Given the description of an element on the screen output the (x, y) to click on. 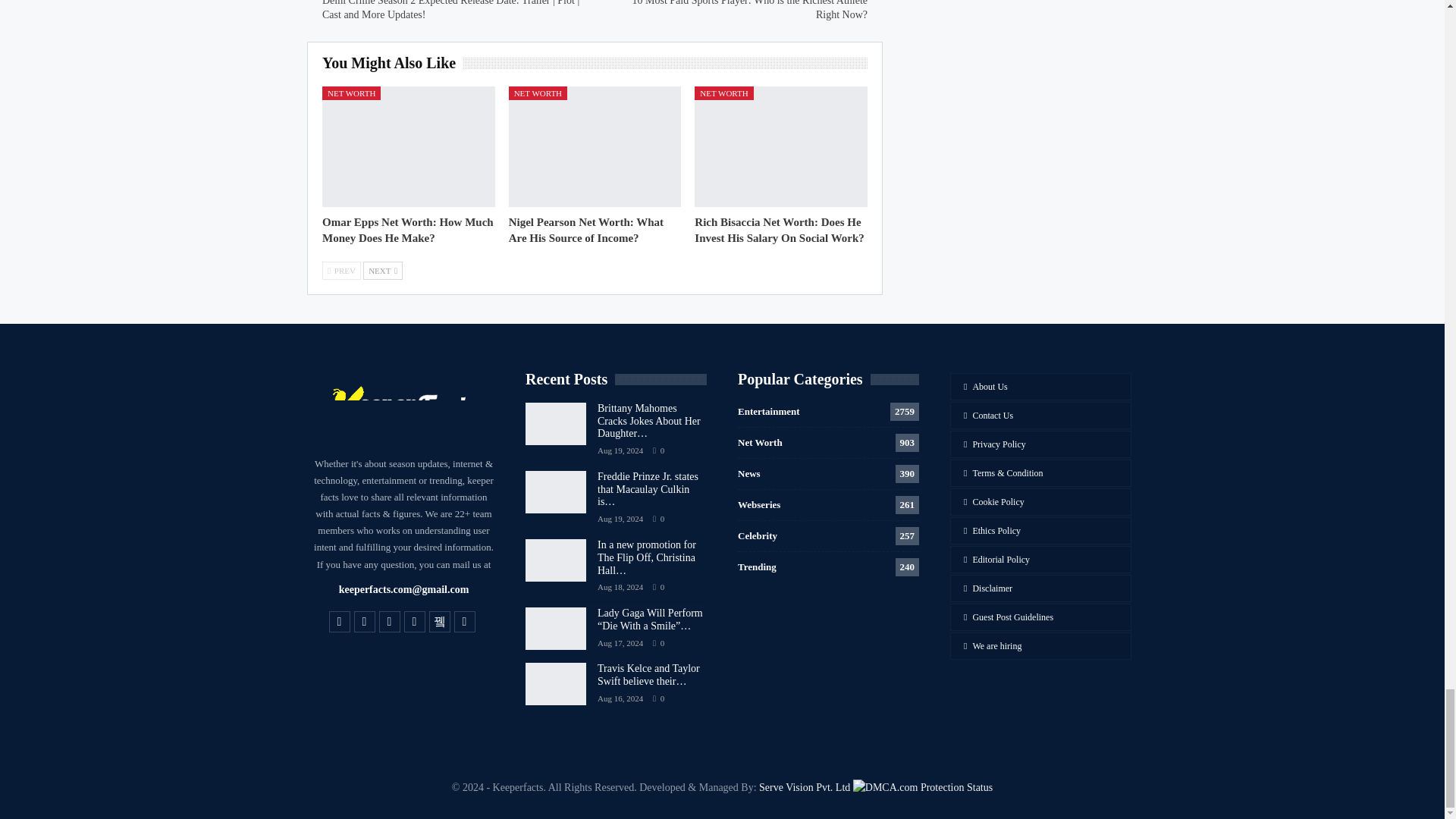
Nigel Pearson Net Worth: What Are His Source of Income? (585, 230)
Previous (341, 270)
Nigel Pearson Net Worth: What Are His Source of Income? (594, 146)
Omar Epps Net Worth: How Much Money Does He Make? (407, 230)
Next (382, 270)
Omar Epps Net Worth: How Much Money Does He Make? (408, 146)
